Given the description of an element on the screen output the (x, y) to click on. 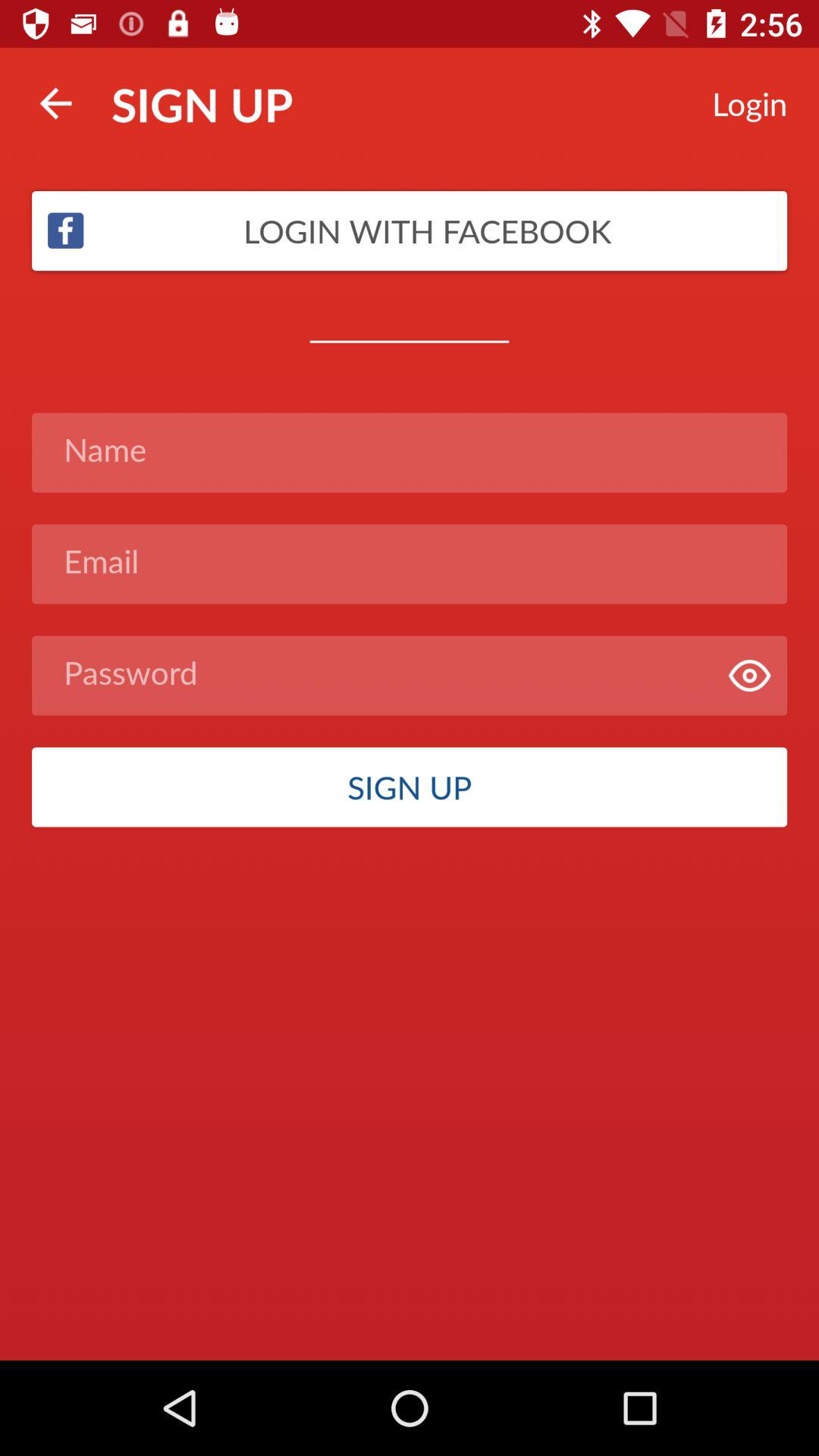
select the login with facebook (409, 230)
